Given the description of an element on the screen output the (x, y) to click on. 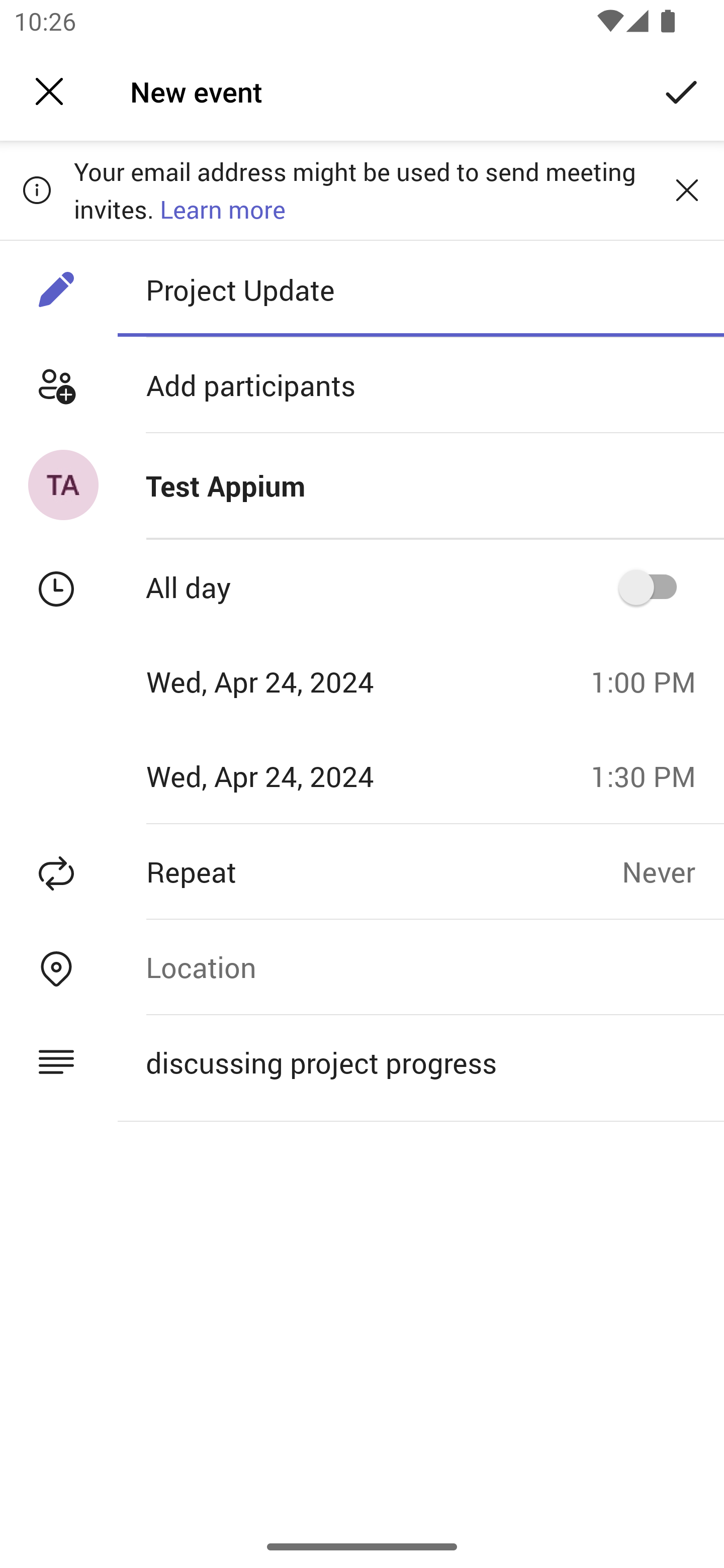
Back (49, 91)
Send invite (681, 90)
Dismiss banner (687, 189)
Project Update (420, 289)
Add participants Add participants option (362, 384)
All day (654, 586)
Wed, Apr 24, 2024 Starts Wednesday Apr 24, 2024 (288, 681)
1:00 PM Start time 1:00 PM (650, 681)
Wed, Apr 24, 2024 Ends Wednesday Apr 24, 2024 (288, 776)
1:30 PM End time 1:30 PM (650, 776)
Repeat (310, 871)
Never Repeat Never (672, 871)
Location (420, 967)
